Given the description of an element on the screen output the (x, y) to click on. 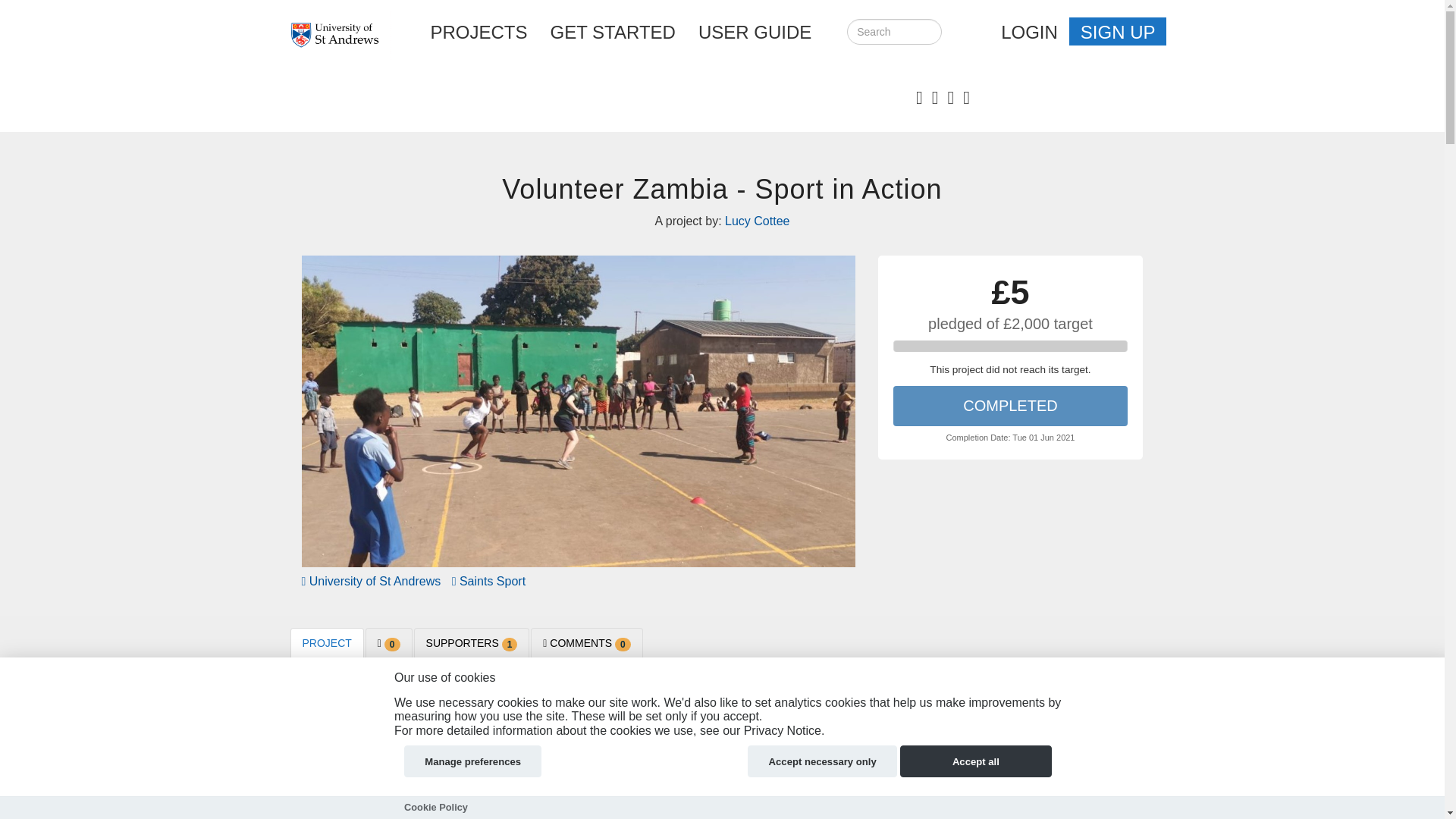
COMPLETED (1010, 405)
Lucy Cottee (997, 775)
University of St Andrews (371, 581)
COMMENTS 0 (586, 643)
0 (388, 643)
SUPPORTERS 1 (471, 643)
VIEW PROFILE (993, 790)
USER GUIDE (754, 32)
Lucy Cottee (757, 220)
Become a helper (1100, 698)
